Given the description of an element on the screen output the (x, y) to click on. 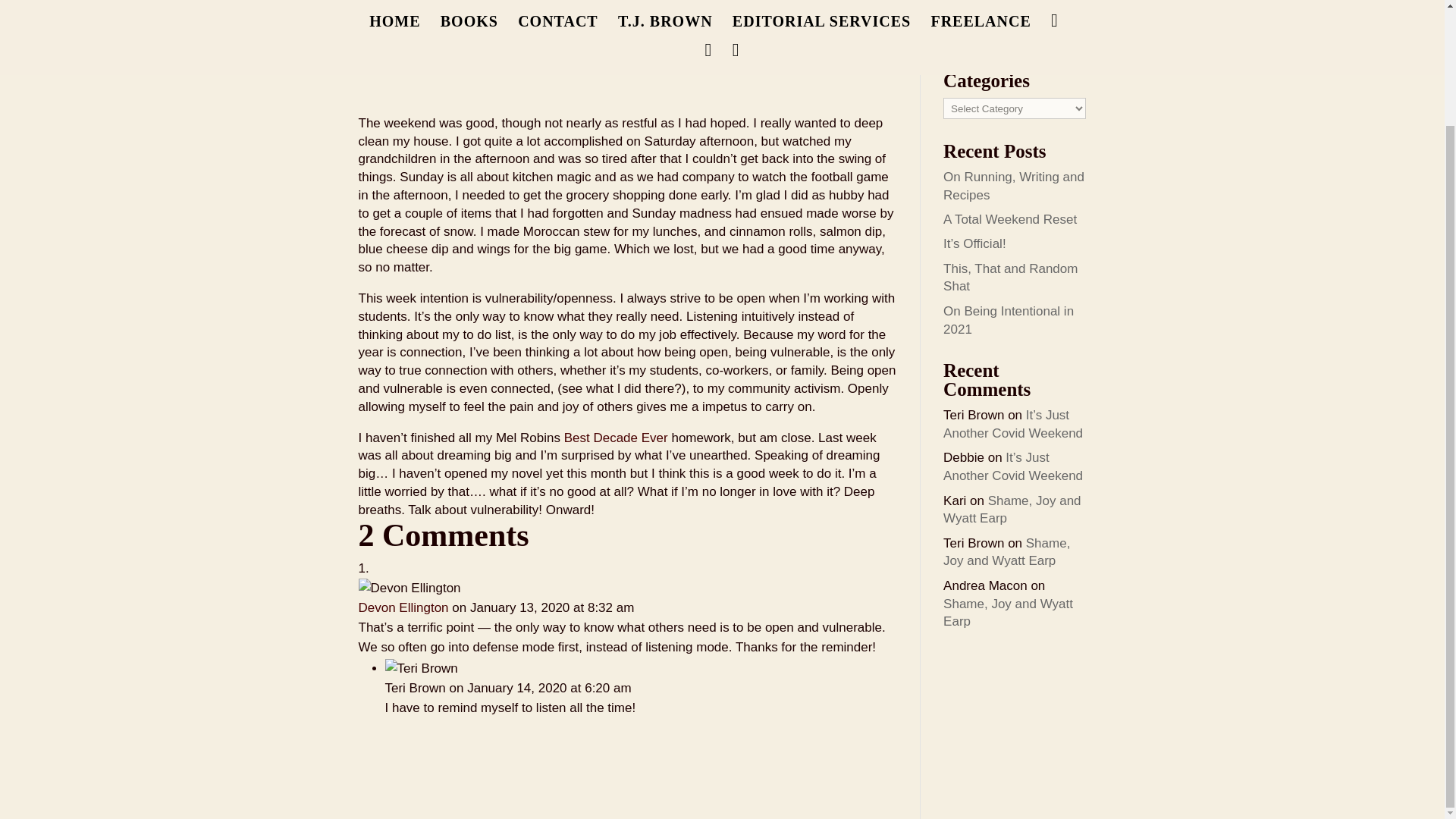
2 comments (607, 65)
Posts by Teri Brown (397, 65)
Shame, Joy and Wyatt Earp (1006, 552)
A Total Weekend Reset (1010, 219)
Devon Ellington (403, 607)
On Running, Writing and Recipes (1013, 185)
Shame, Joy and Wyatt Earp (1008, 613)
On Being Intentional in 2021 (1008, 319)
Search (1061, 33)
Search (1061, 33)
